Given the description of an element on the screen output the (x, y) to click on. 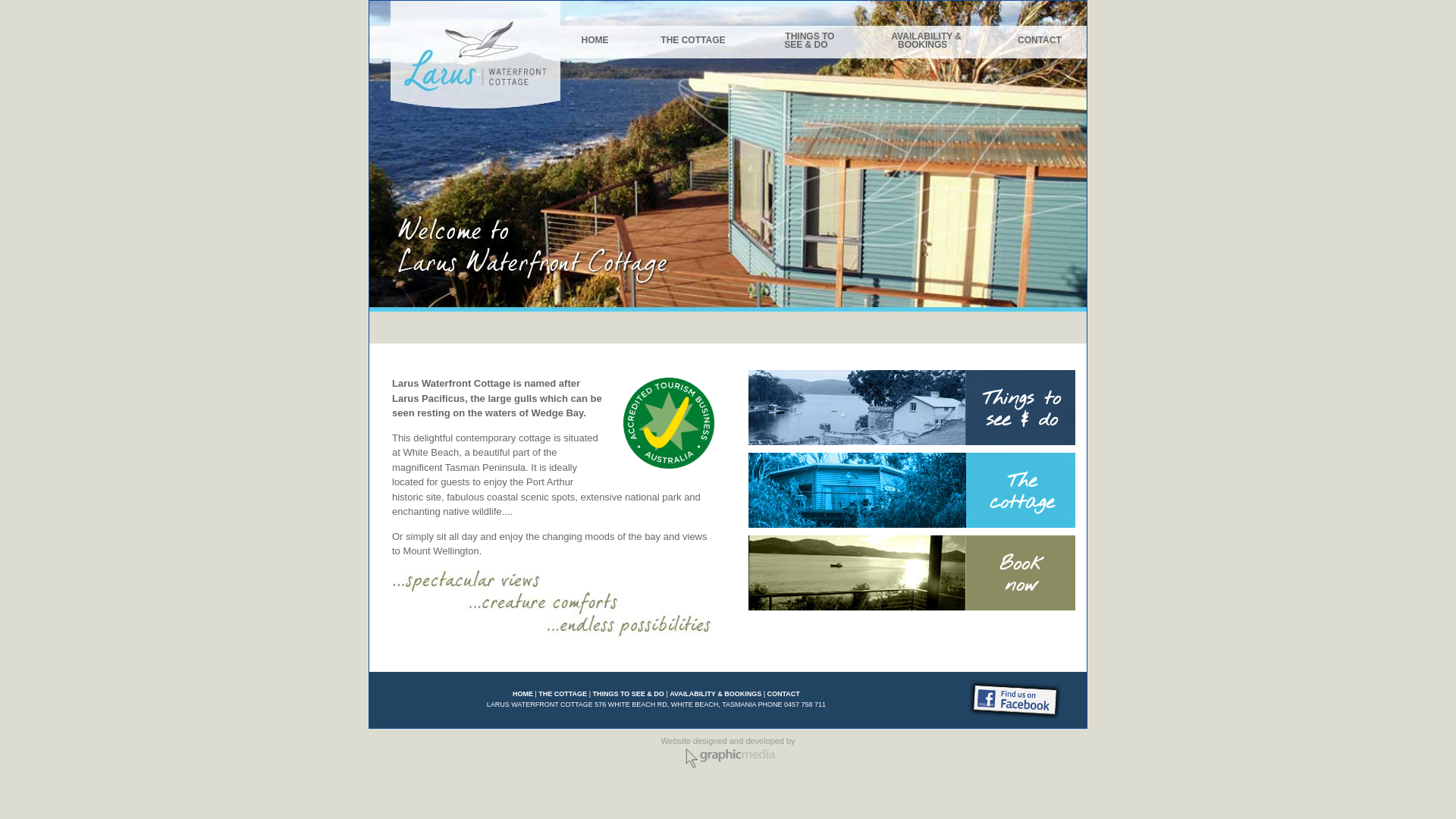
THINGS TO
SEE & DO Element type: text (807, 40)
AVAILABILITY &
BOOKINGS Element type: text (924, 40)
AVAILABILITY & BOOKINGS Element type: text (715, 693)
HOME Element type: text (522, 693)
CONTACT Element type: text (1039, 40)
HOME Element type: text (594, 40)
Book
now Element type: text (911, 572)
THE COTTAGE Element type: text (692, 40)
CONTACT Element type: text (783, 693)
The
cottage Element type: text (911, 489)
Things to
see & do Element type: text (911, 407)
THE COTTAGE Element type: text (562, 693)
THINGS TO SEE & DO Element type: text (627, 693)
